Given the description of an element on the screen output the (x, y) to click on. 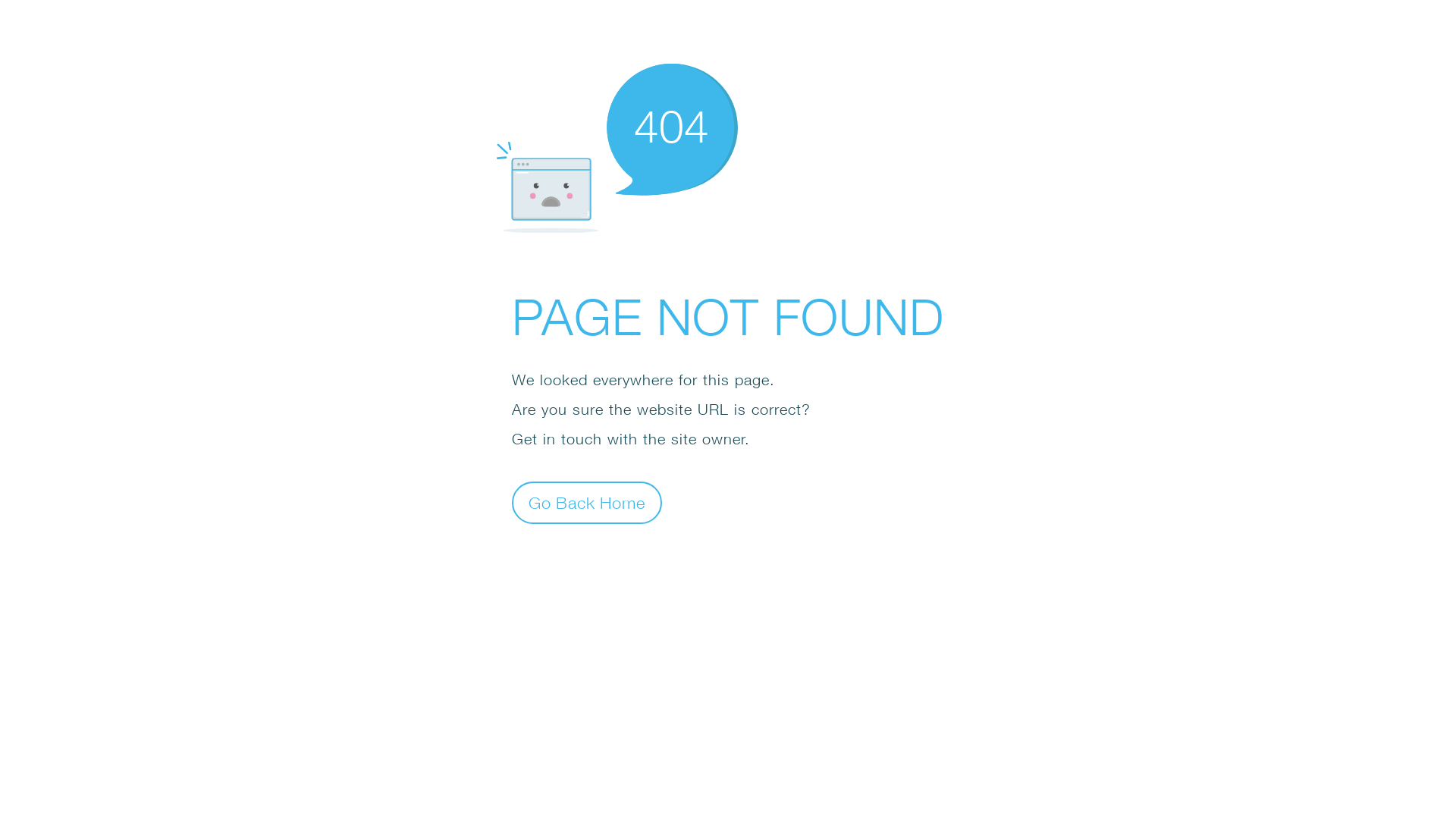
Go Back Home Element type: text (586, 502)
